Given the description of an element on the screen output the (x, y) to click on. 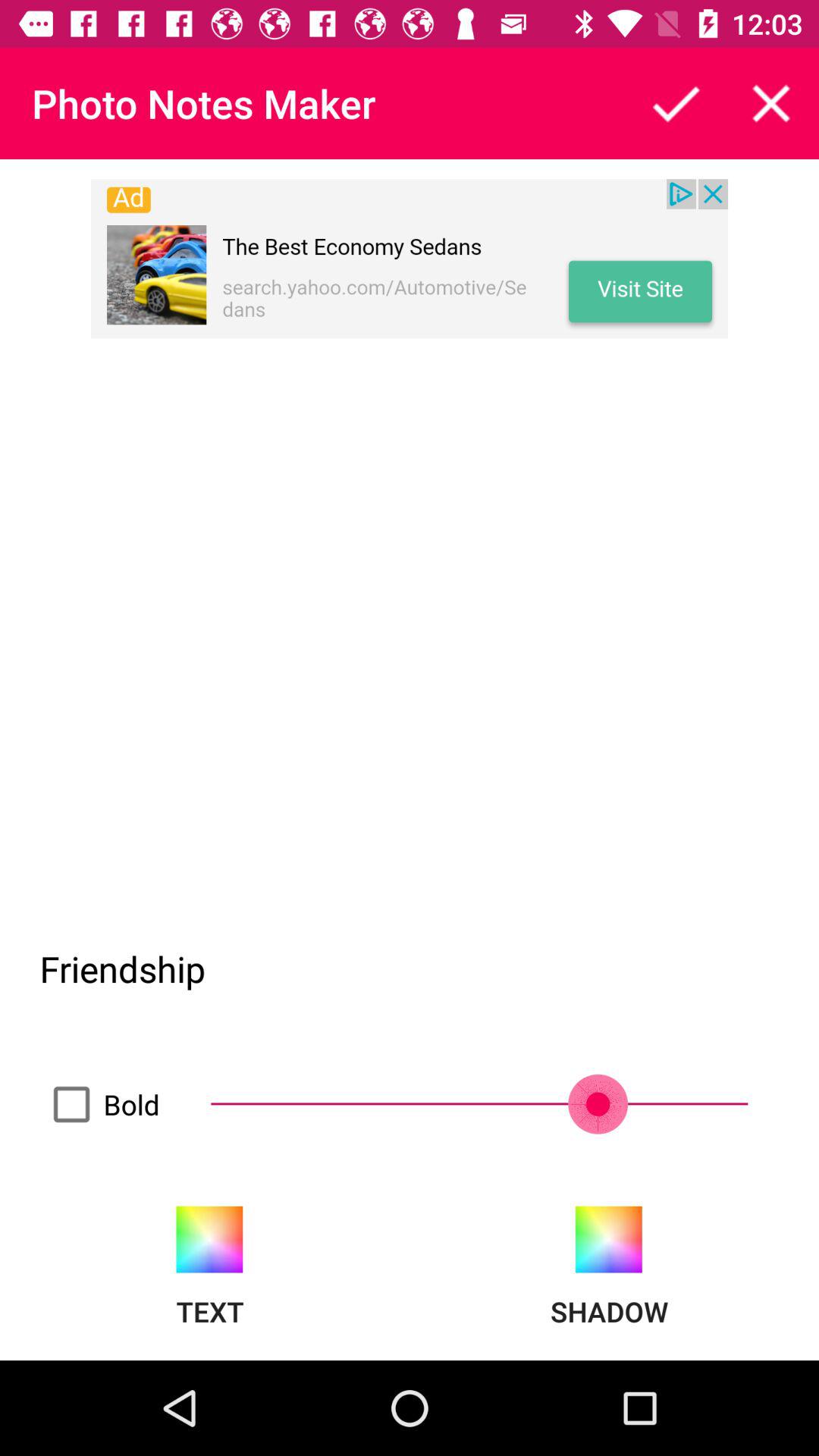
close page (771, 103)
